Given the description of an element on the screen output the (x, y) to click on. 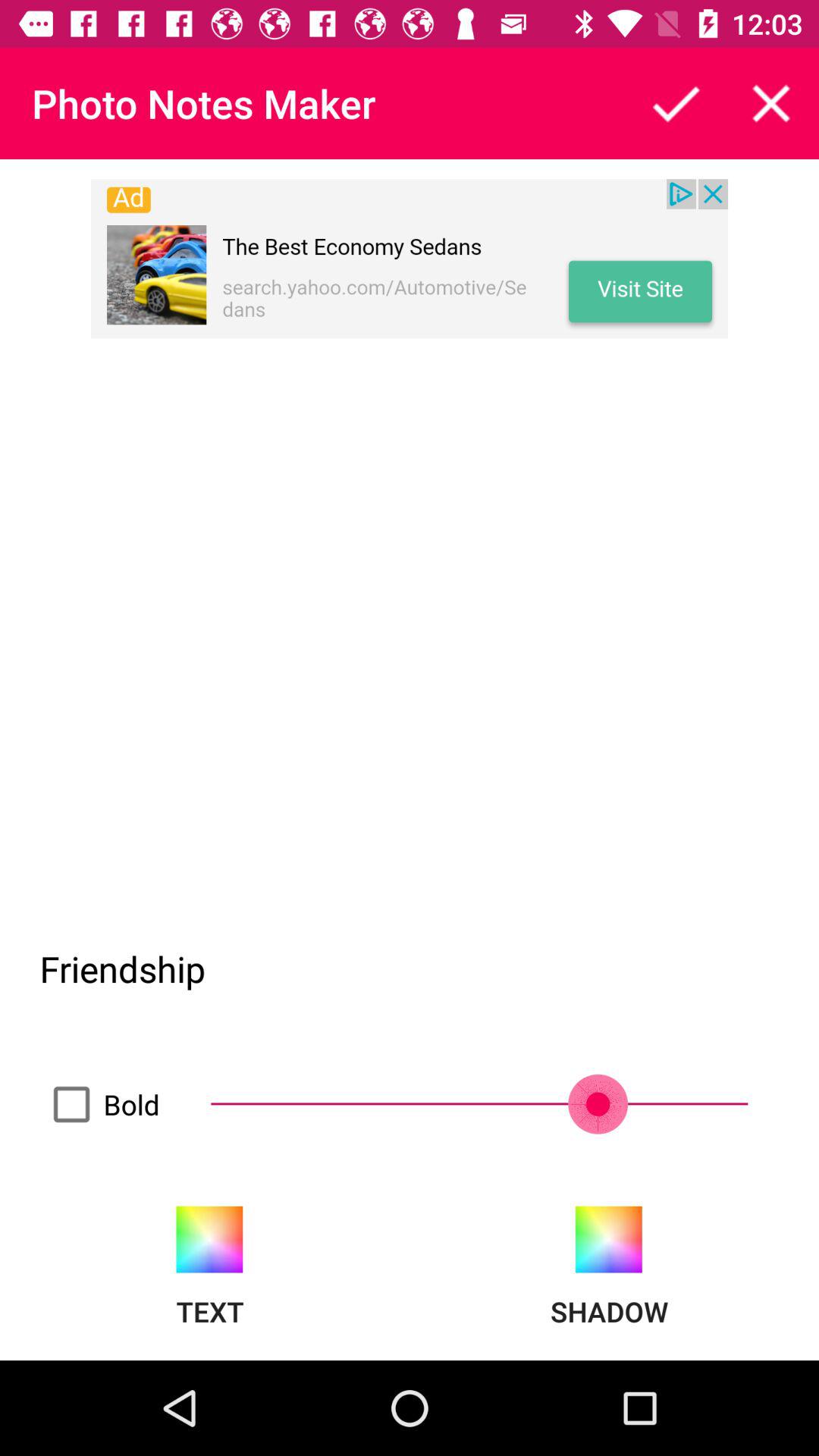
close page (771, 103)
